Given the description of an element on the screen output the (x, y) to click on. 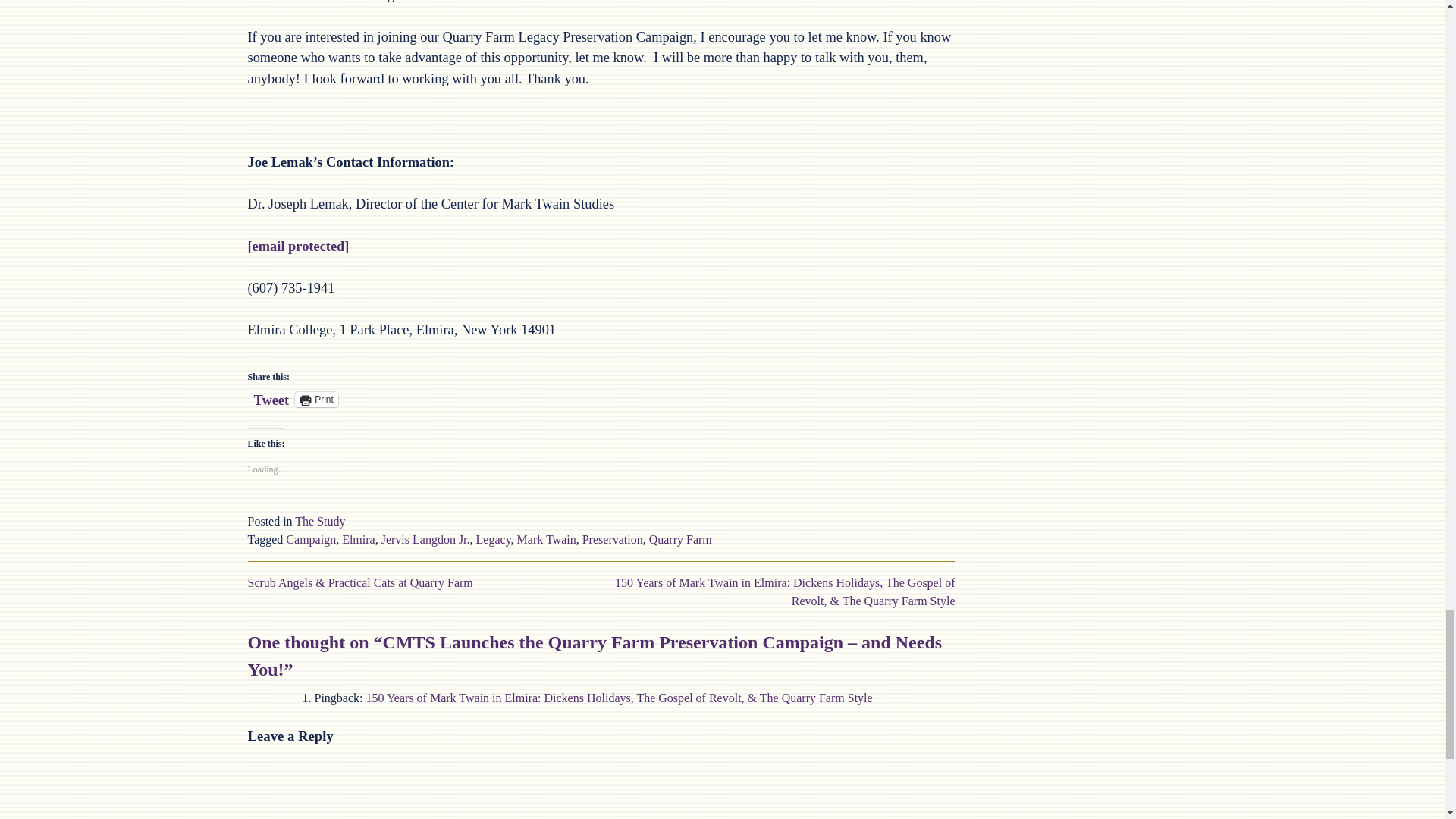
Click to print (316, 399)
Comment Form (601, 785)
